Given the description of an element on the screen output the (x, y) to click on. 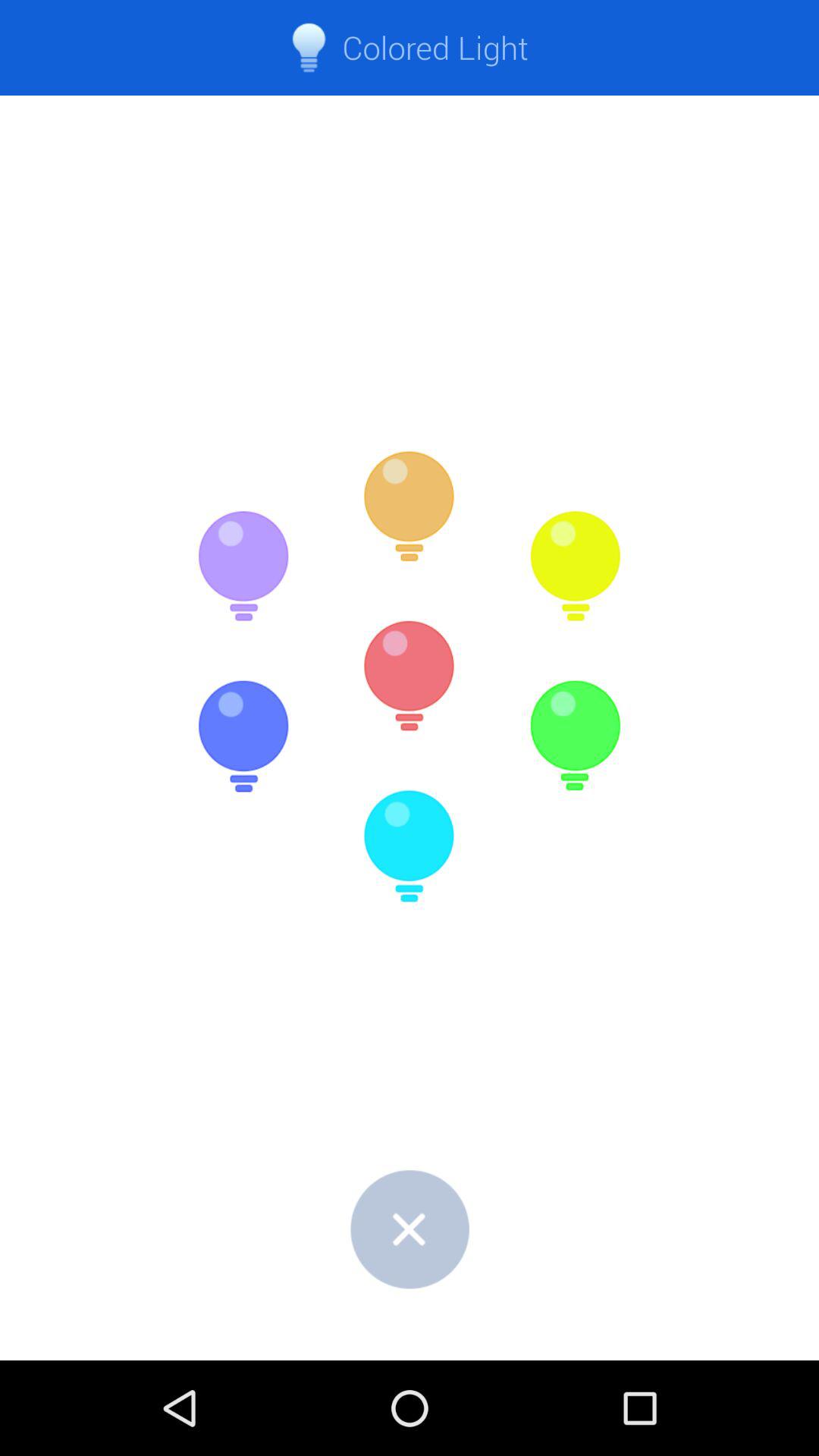
choose purple light (243, 566)
